Given the description of an element on the screen output the (x, y) to click on. 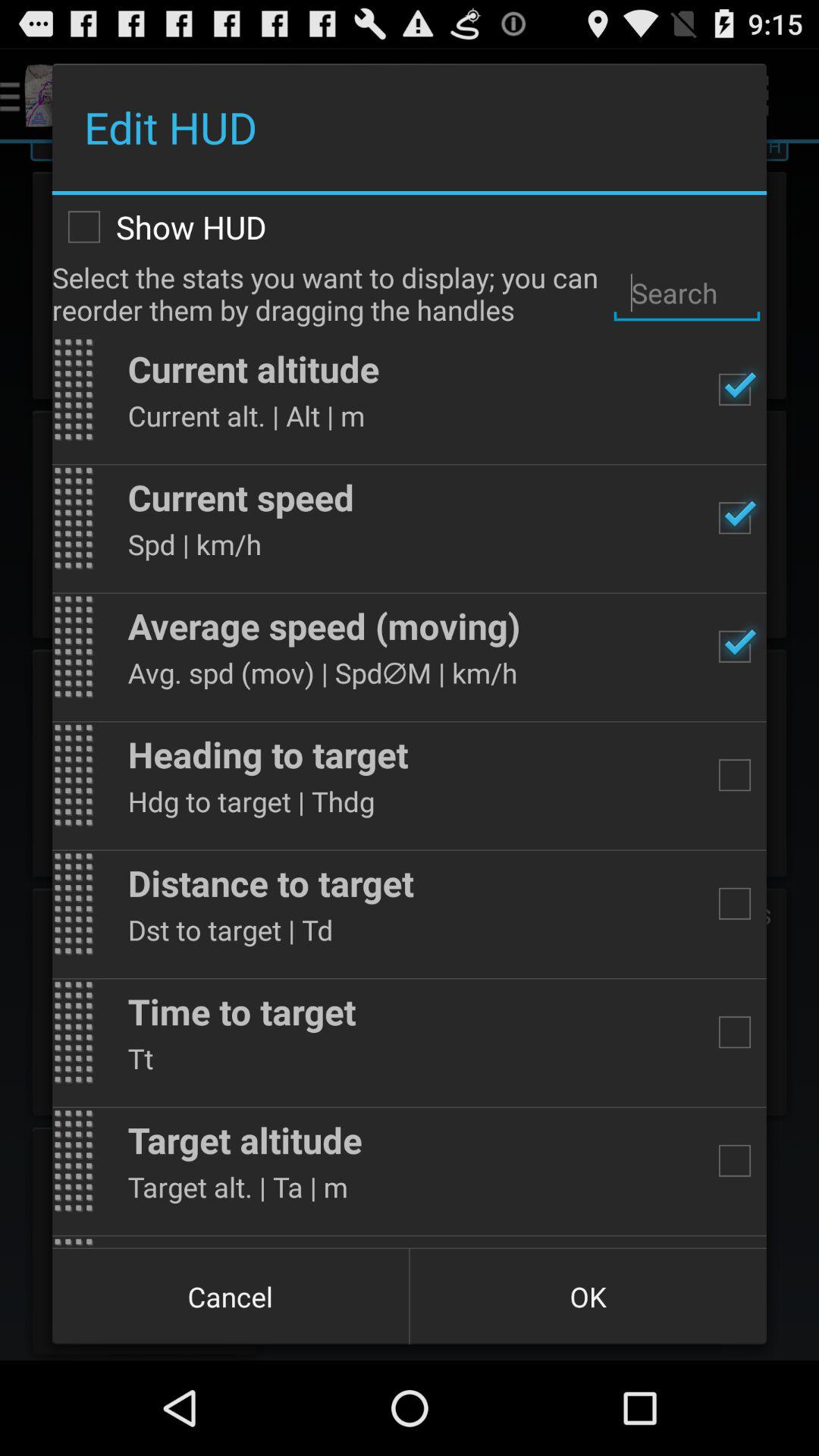
press the item to the right of the cancel item (588, 1296)
